Given the description of an element on the screen output the (x, y) to click on. 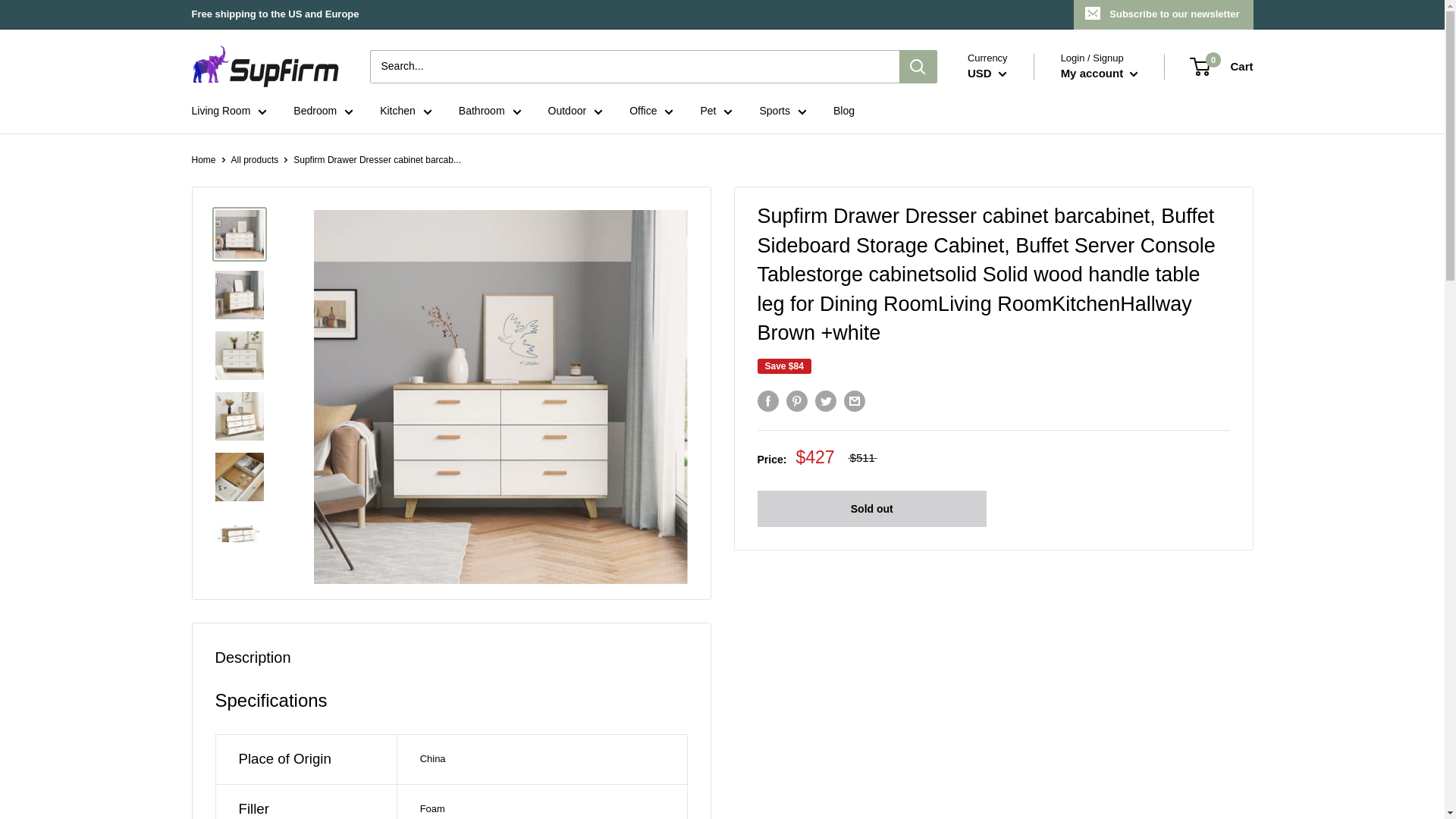
Subscribe to our newsletter (1163, 14)
